Given the description of an element on the screen output the (x, y) to click on. 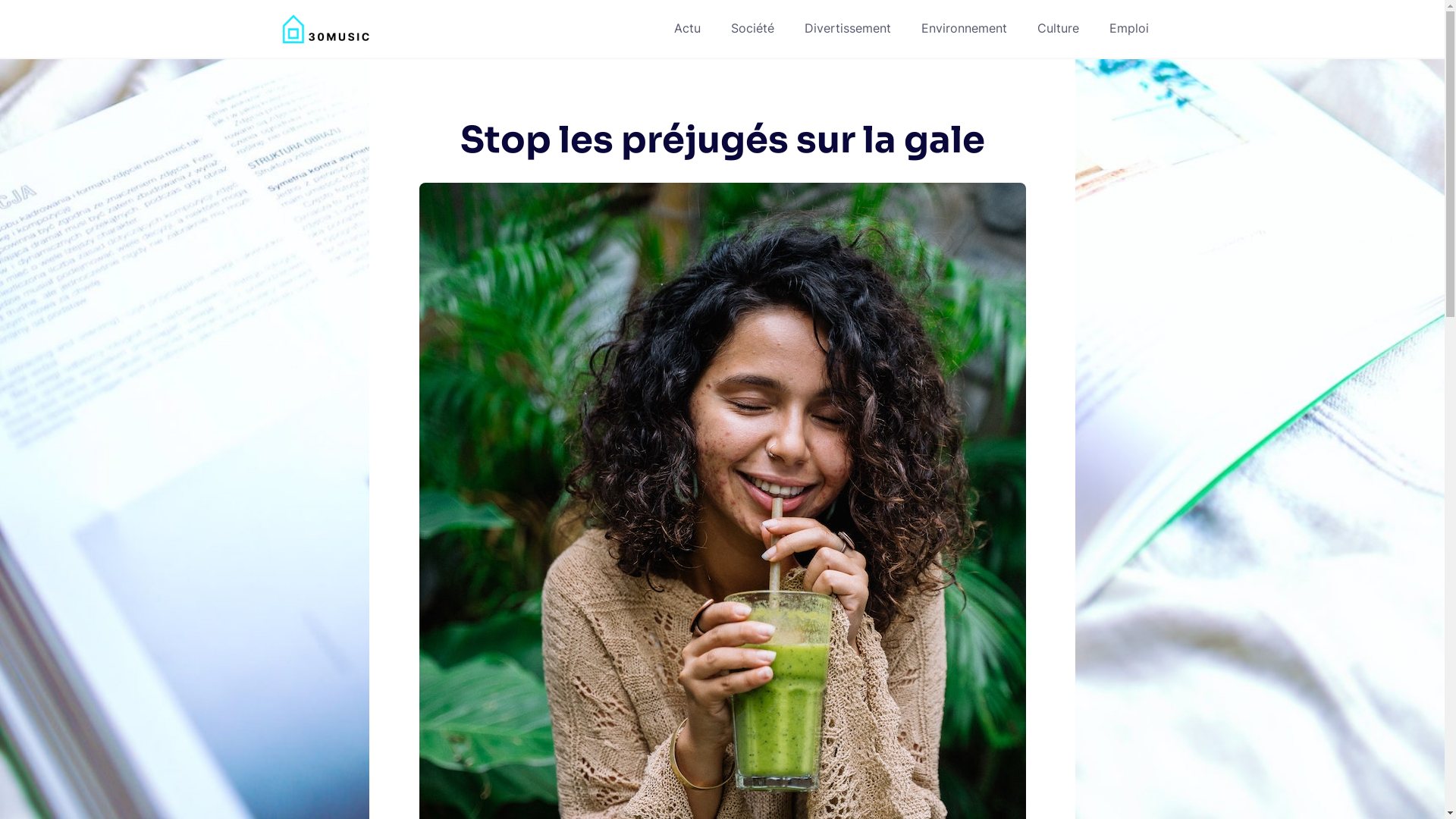
Divertissement Element type: text (847, 28)
Actu Element type: text (687, 28)
Environnement Element type: text (963, 28)
Emploi Element type: text (1128, 28)
Culture Element type: text (1057, 28)
